Given the description of an element on the screen output the (x, y) to click on. 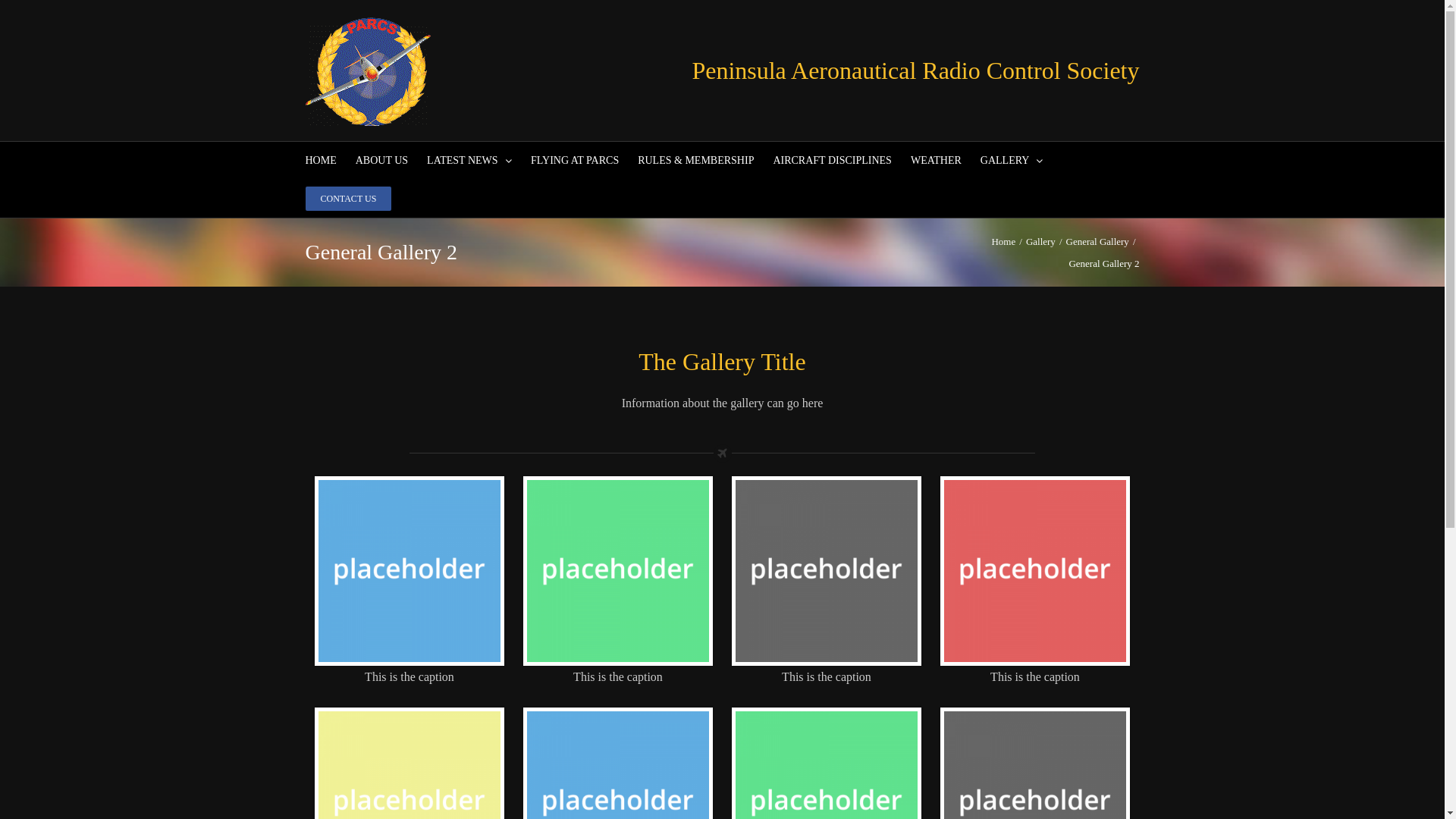
HOME Element type: text (319, 160)
WEATHER Element type: text (935, 160)
RULES & MEMBERSHIP Element type: text (695, 160)
LATEST NEWS Element type: text (468, 160)
FLYING AT PARCS Element type: text (574, 160)
General Gallery Element type: text (1097, 241)
GALLERY Element type: text (1011, 160)
AIRCRAFT DISCIPLINES Element type: text (831, 160)
CONTACT US Element type: text (347, 198)
Home Element type: text (1003, 241)
ABOUT US Element type: text (381, 160)
Gallery Element type: text (1040, 241)
